Given the description of an element on the screen output the (x, y) to click on. 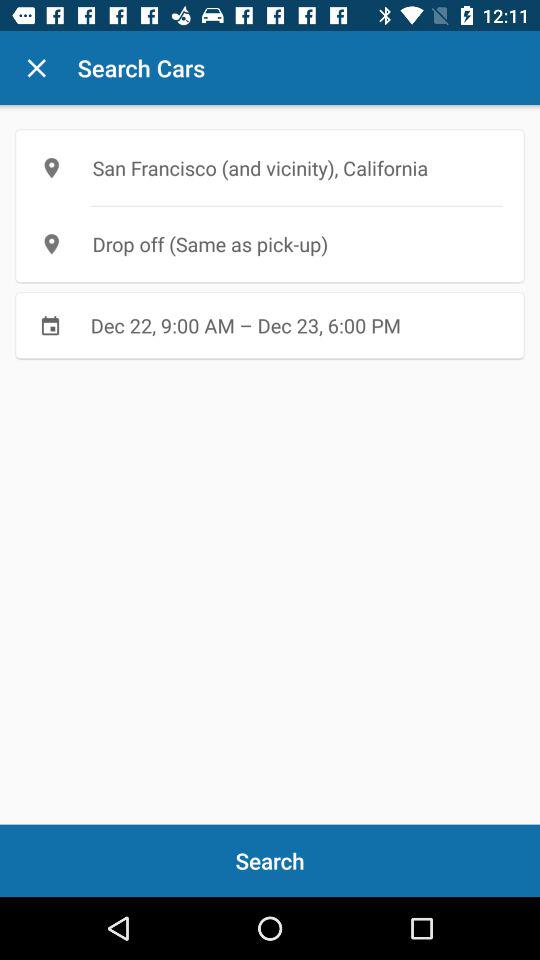
swipe until the san francisco and icon (269, 168)
